Given the description of an element on the screen output the (x, y) to click on. 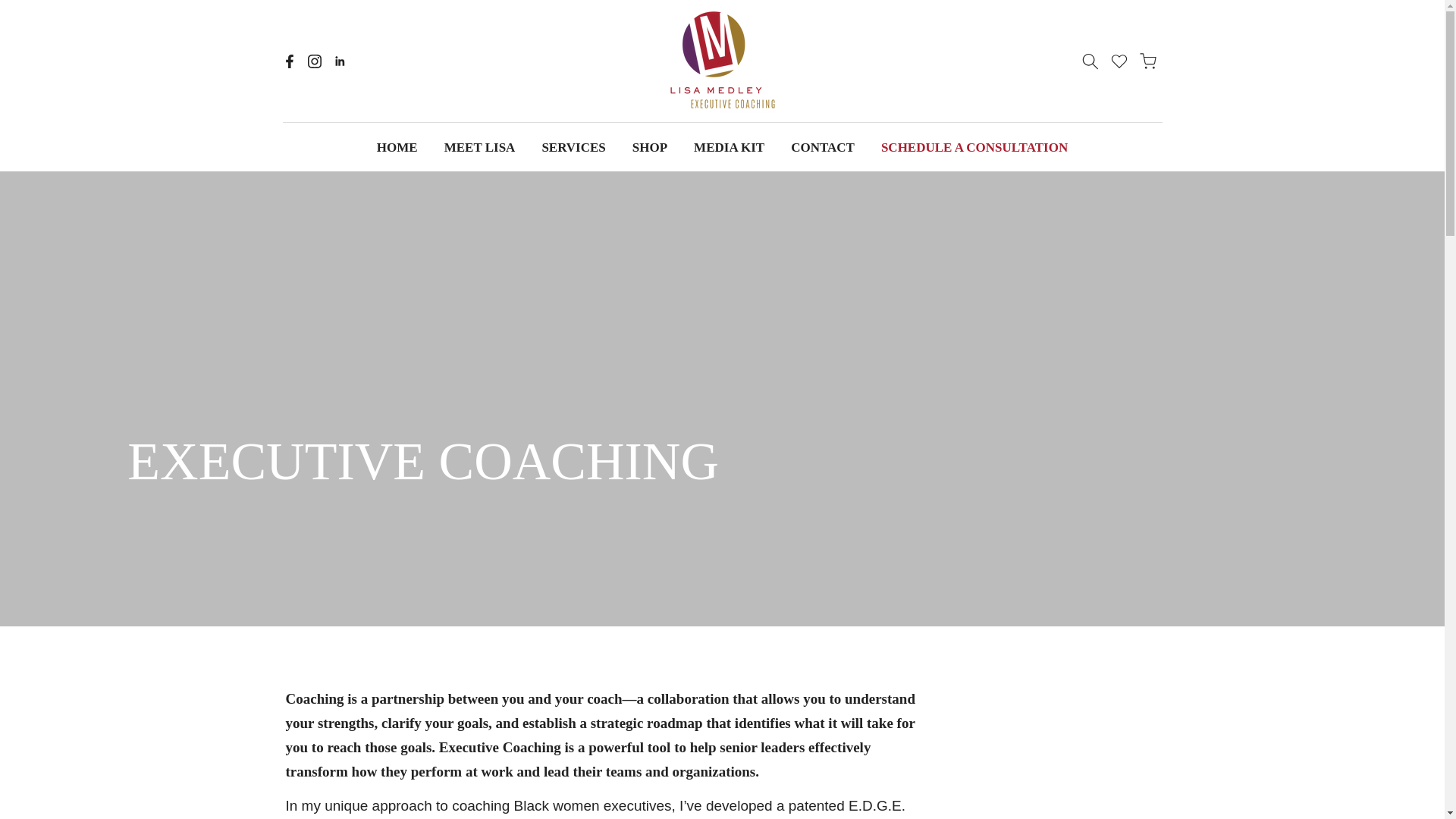
CONTACT (822, 146)
HOME (396, 146)
SCHEDULE A CONSULTATION (973, 146)
SHOP (648, 146)
SERVICES (573, 146)
MEET LISA (479, 146)
Skip to content (10, 7)
MEDIA KIT (729, 146)
